Given the description of an element on the screen output the (x, y) to click on. 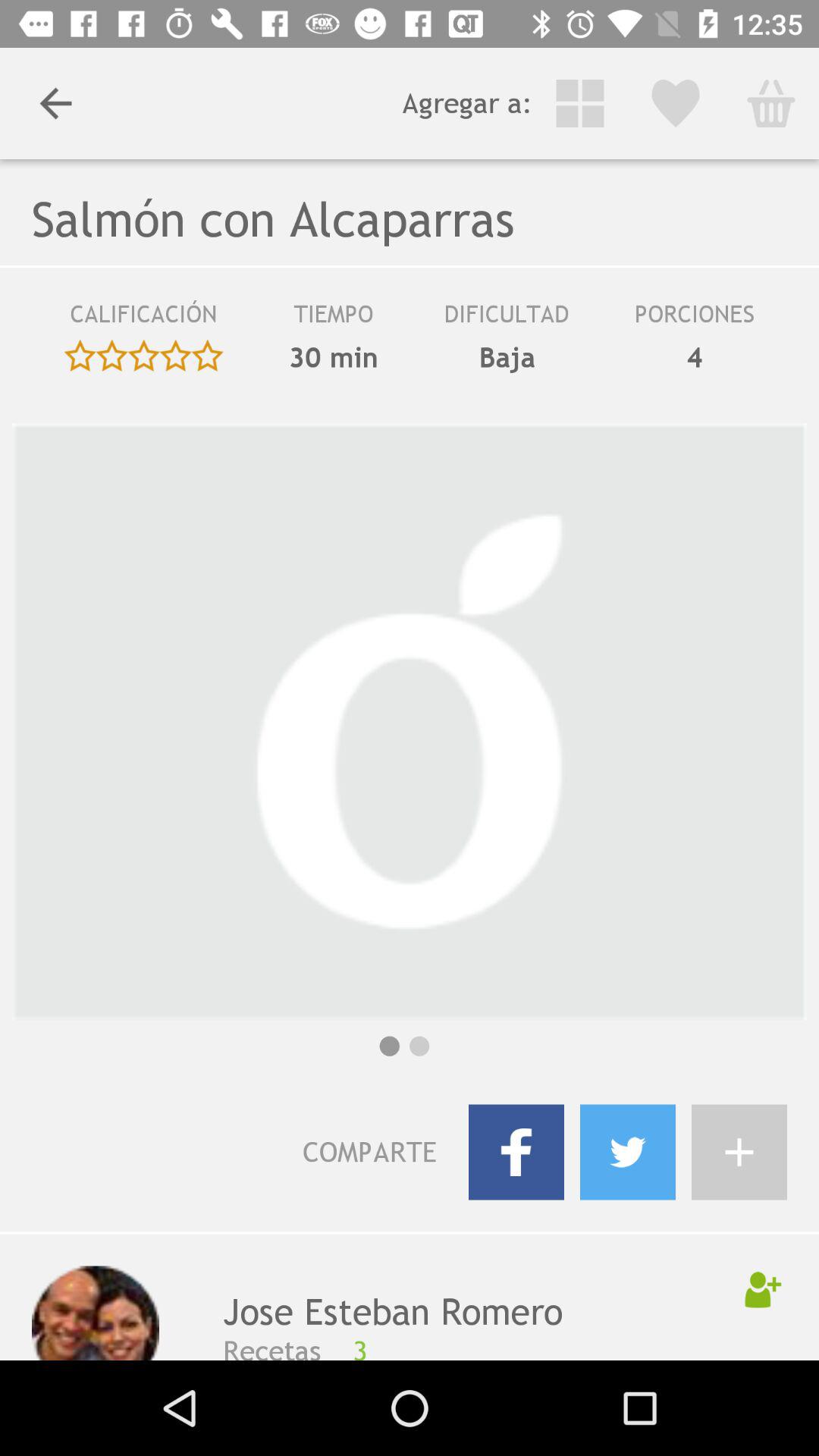
share on facebook (516, 1152)
